Given the description of an element on the screen output the (x, y) to click on. 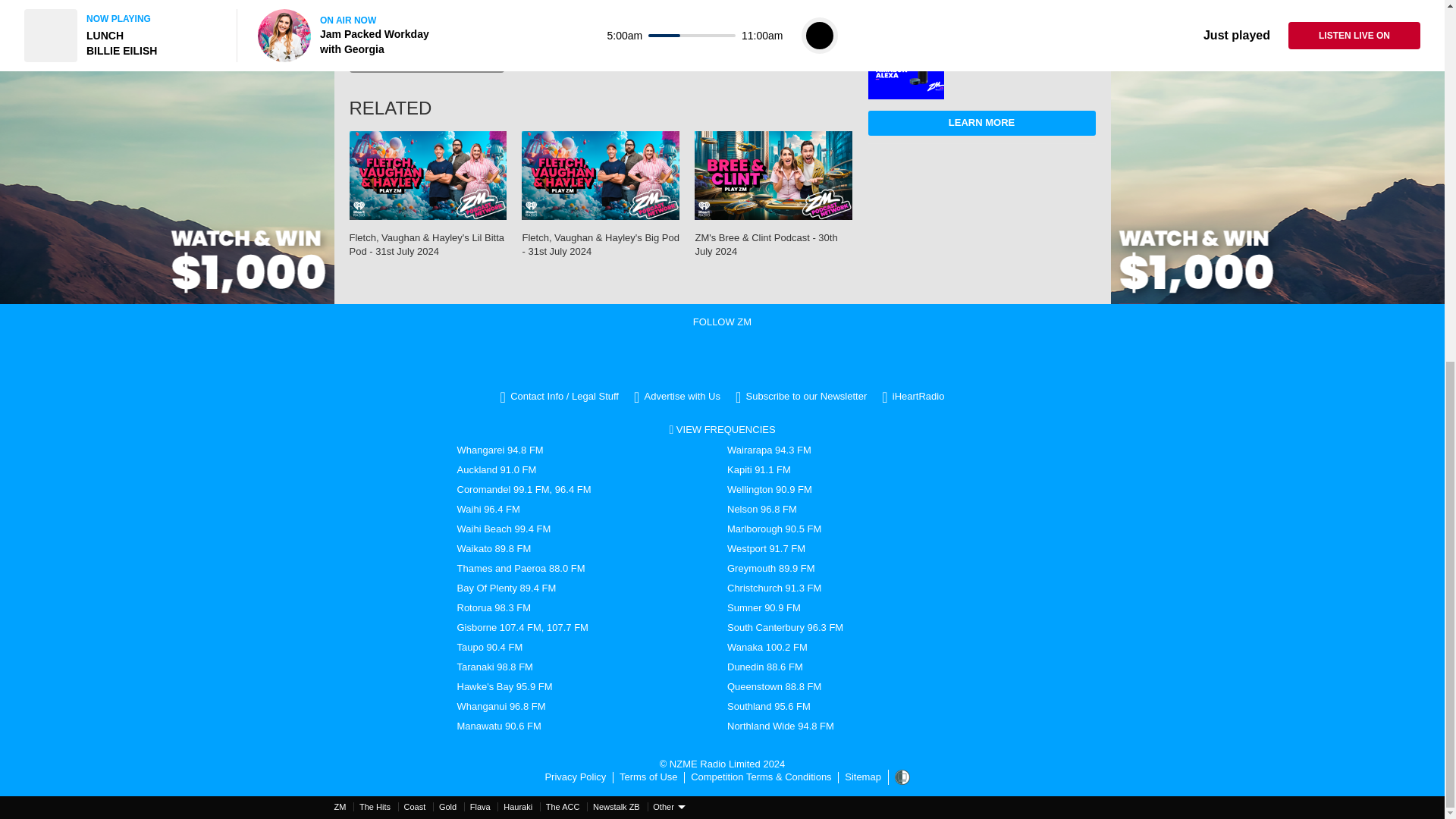
Share with whatsapp (537, 17)
Share with twitter (419, 17)
Share with flipboard (449, 17)
Share with email (359, 17)
Share with facebook (390, 17)
Share with pinterest (478, 17)
Share with reddit (508, 17)
